Given the description of an element on the screen output the (x, y) to click on. 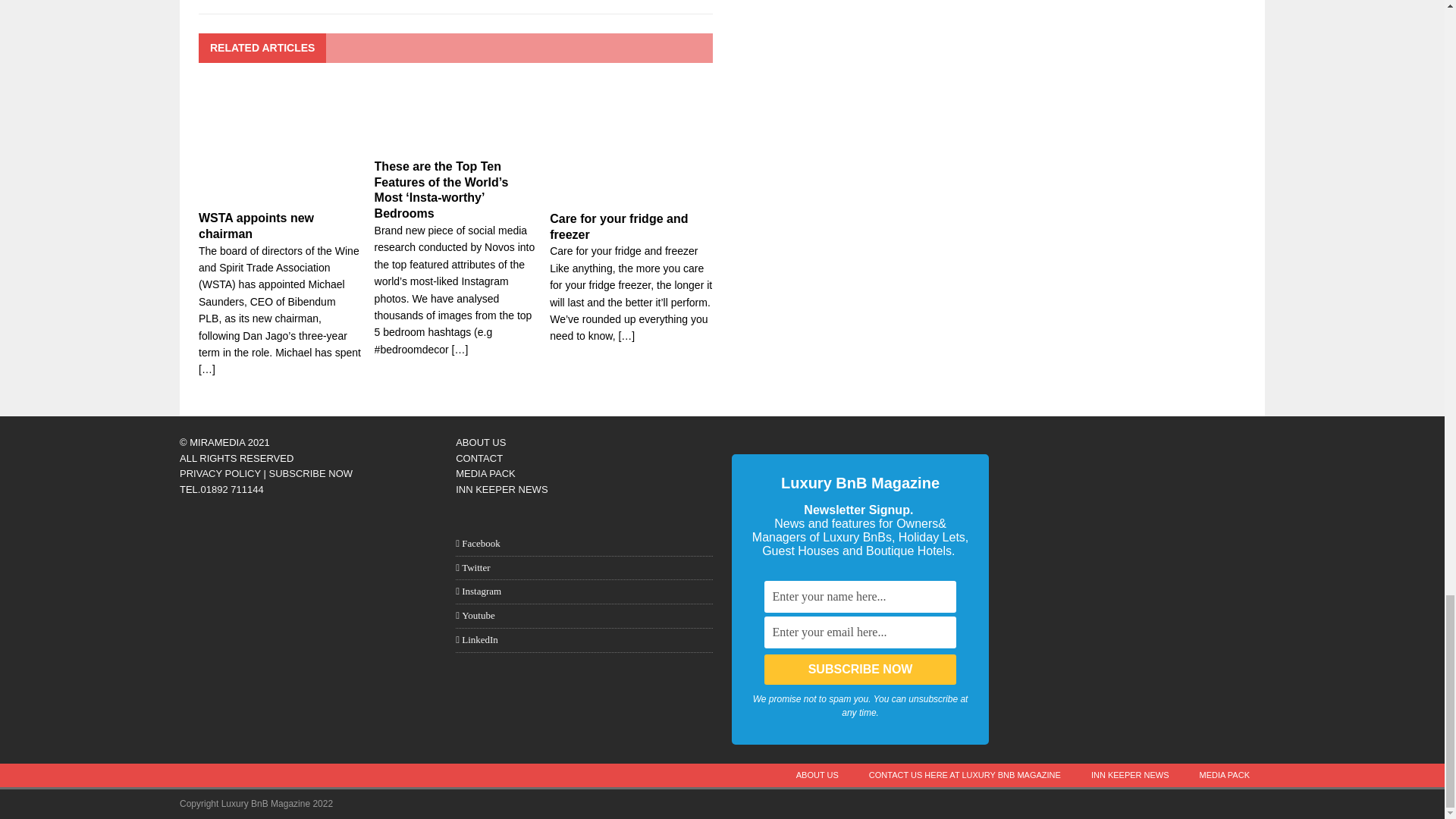
Subscribe Now (859, 669)
